Given the description of an element on the screen output the (x, y) to click on. 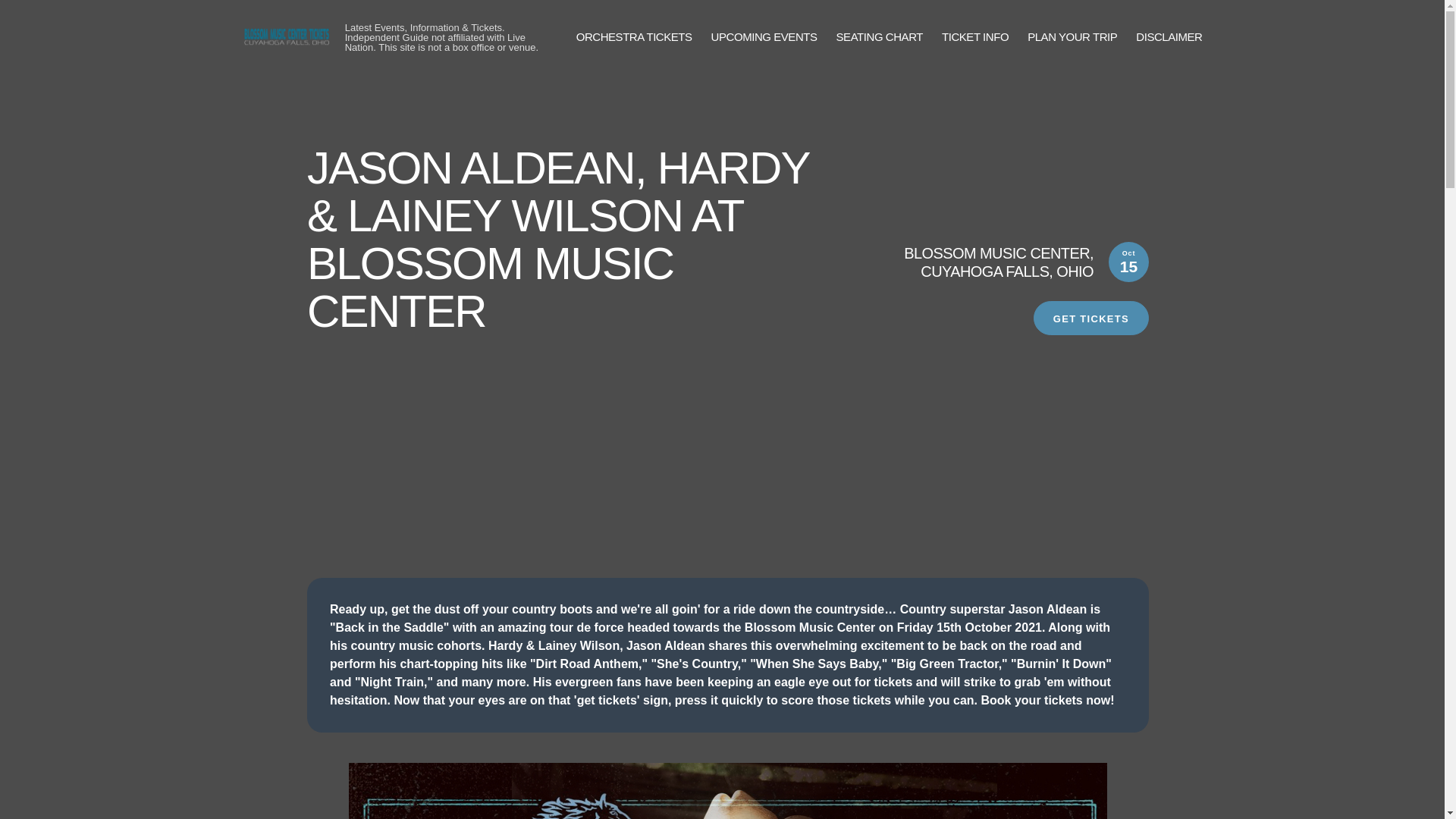
TICKET INFO (975, 36)
UPCOMING EVENTS (763, 36)
SEATING CHART (879, 36)
GET TICKETS (1090, 317)
PLAN YOUR TRIP (1071, 36)
ORCHESTRA TICKETS (634, 36)
DISCLAIMER (1168, 36)
